Given the description of an element on the screen output the (x, y) to click on. 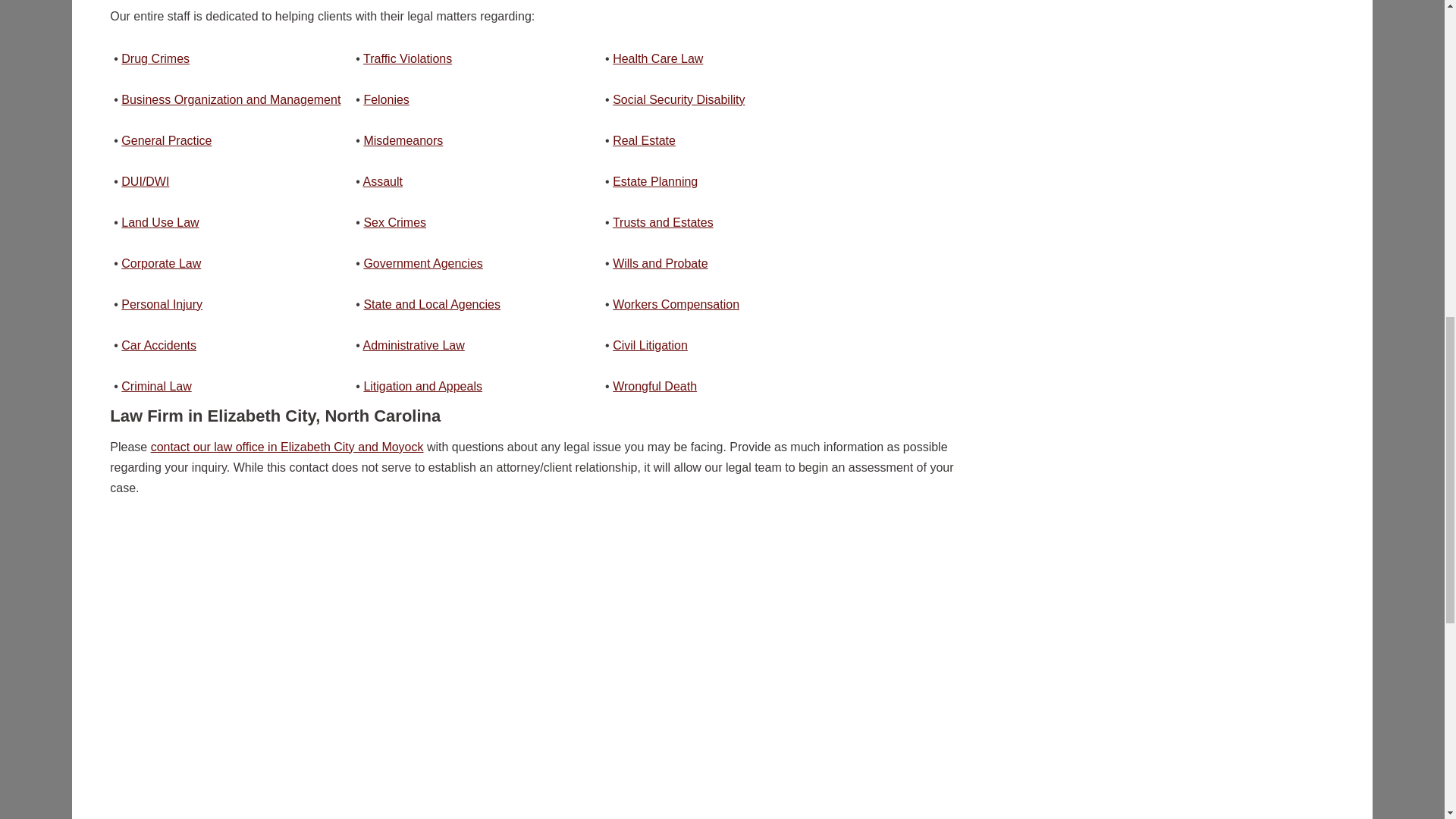
Health Care Law (657, 58)
Traffic Law (406, 58)
Criminal Law (385, 99)
Criminal Law (154, 58)
Business Organization and Management (230, 99)
